Given the description of an element on the screen output the (x, y) to click on. 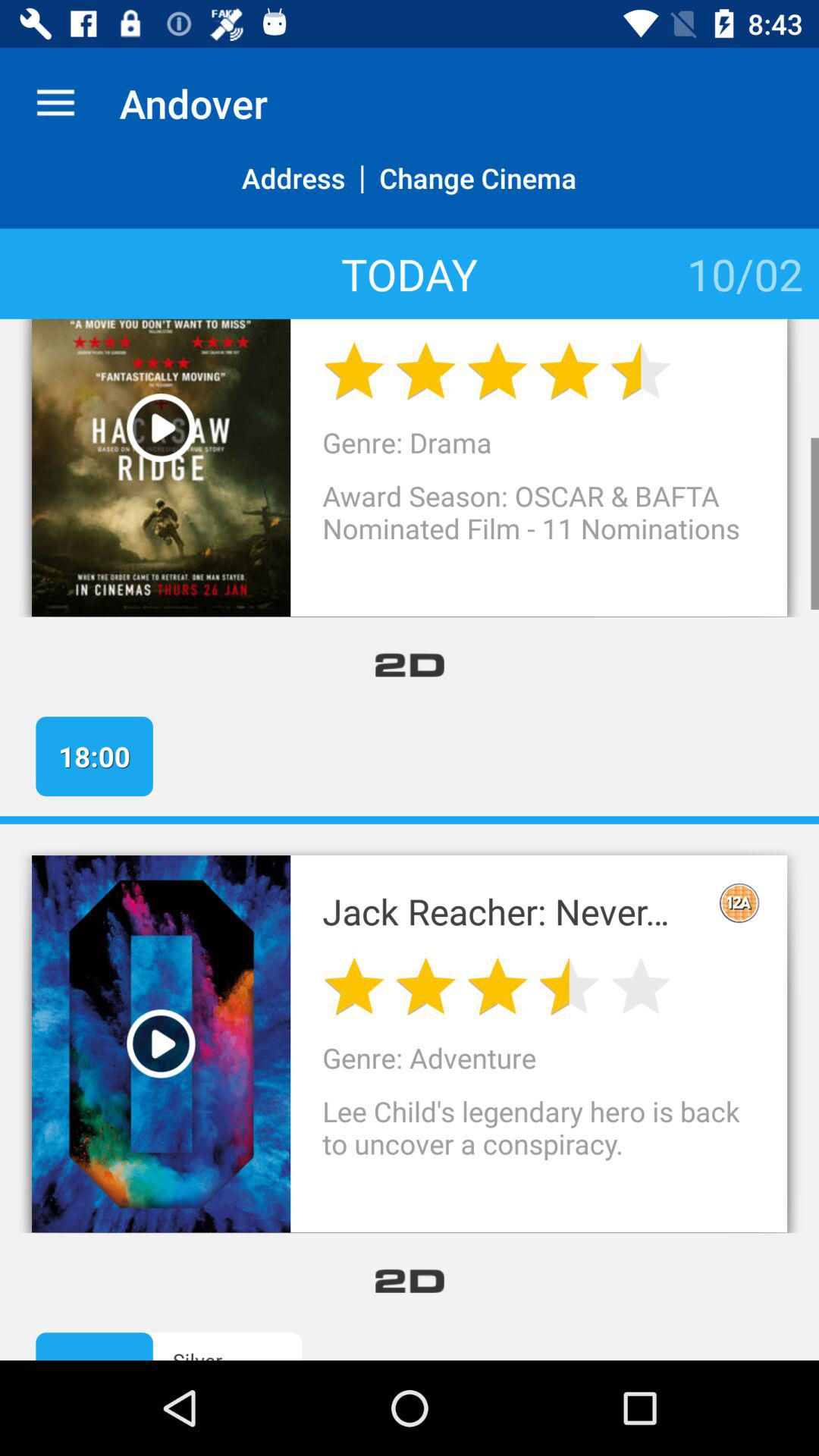
turn on the item to the right of the 14:00 item (250, 1353)
